Given the description of an element on the screen output the (x, y) to click on. 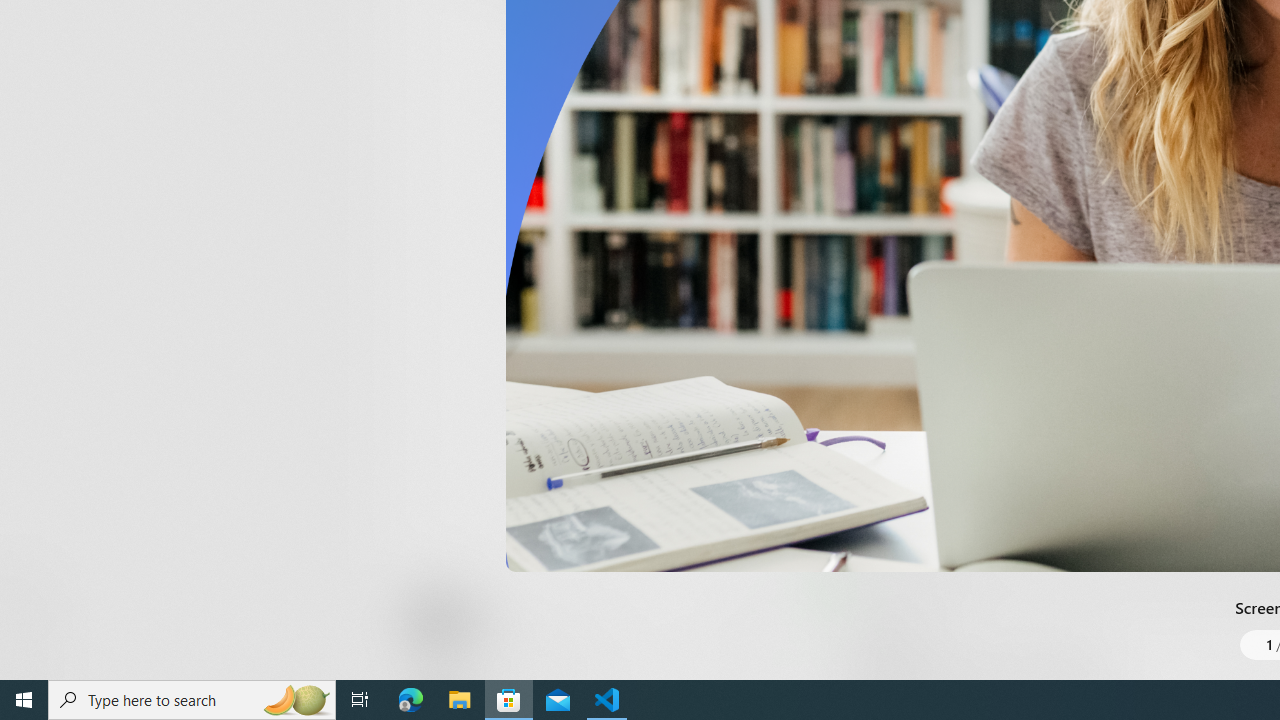
Show more (854, 31)
Social (579, 23)
Show all ratings and reviews (838, 454)
Share (746, 632)
Age rating: TEEN. Click for more information. (488, 619)
